Given the description of an element on the screen output the (x, y) to click on. 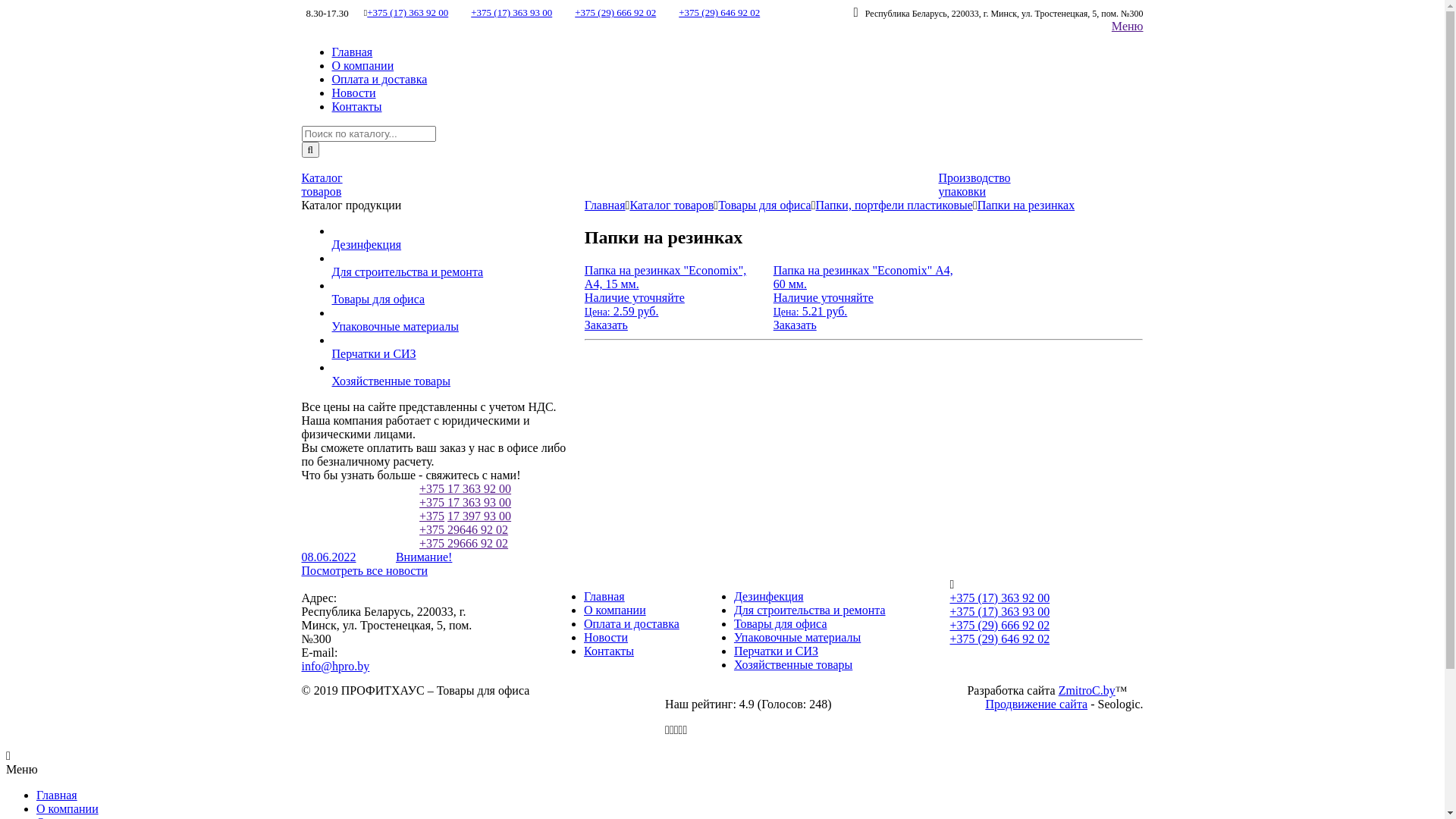
+375 (17) 363 92 00 Element type: text (407, 12)
+375 (17) 363 92 00 Element type: text (999, 597)
+375 29646 92 02 Element type: text (463, 529)
+375 (17) 363 93 00 Element type: text (999, 611)
+375 (17) 363 93 00 Element type: text (511, 12)
+375 29666 92 02 Element type: text (463, 542)
+375 17 363 92 00 Element type: text (465, 488)
ZmitroC.by Element type: text (1086, 690)
Search Element type: text (310, 149)
+375 (29) 666 92 02 Element type: text (614, 12)
+375 17 363 93 00 Element type: text (465, 501)
+375 (29) 646 92 02 Element type: text (718, 12)
info@hpro.by Element type: text (335, 665)
17 397 93 00 Element type: text (479, 515)
+375 (29) 646 92 02 Element type: text (999, 638)
+375 (29) 666 92 02 Element type: text (999, 624)
+375 Element type: text (431, 515)
